Given the description of an element on the screen output the (x, y) to click on. 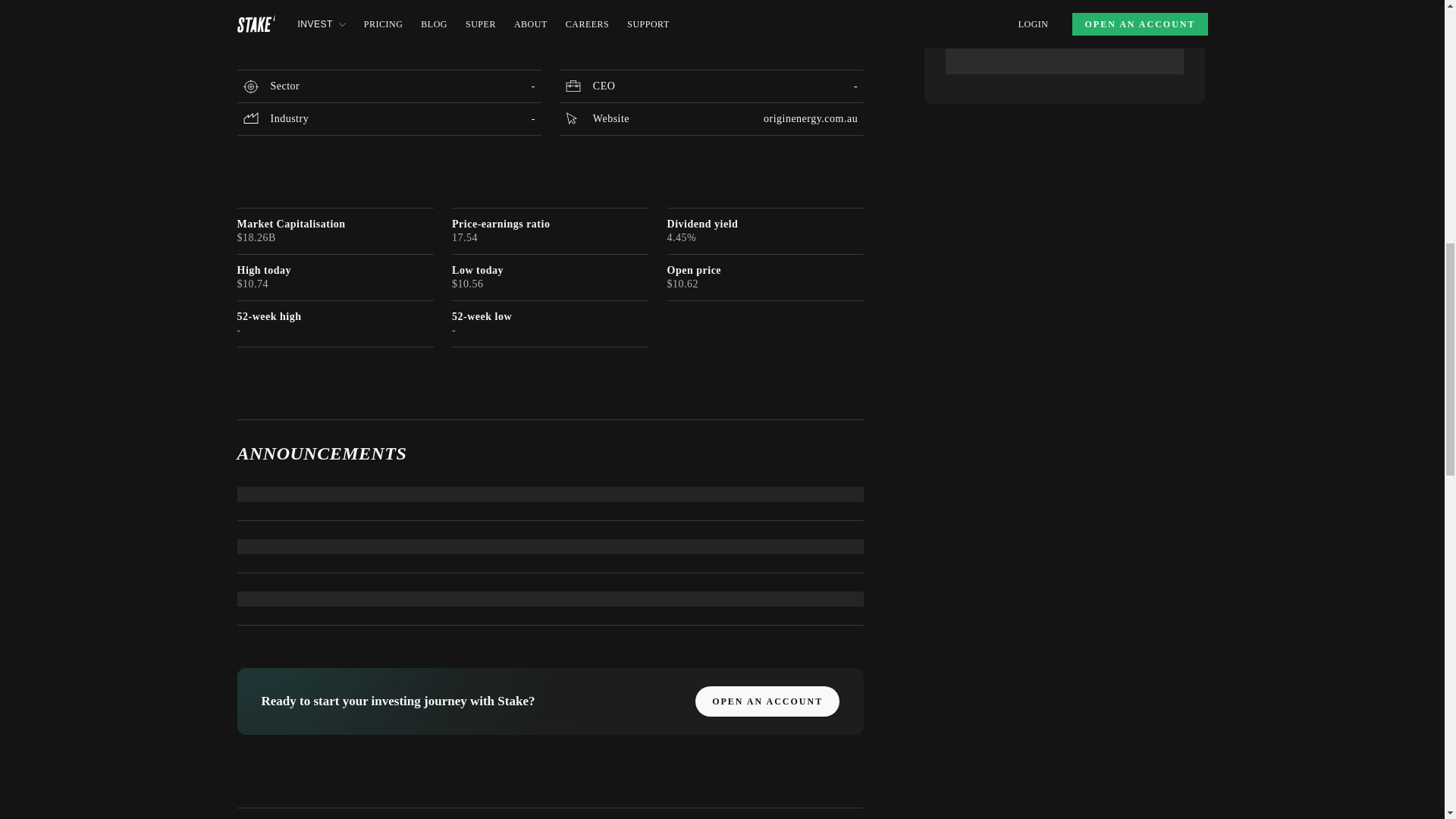
Buy Australian shares (286, 31)
OPEN AN ACCOUNT (767, 701)
